Given the description of an element on the screen output the (x, y) to click on. 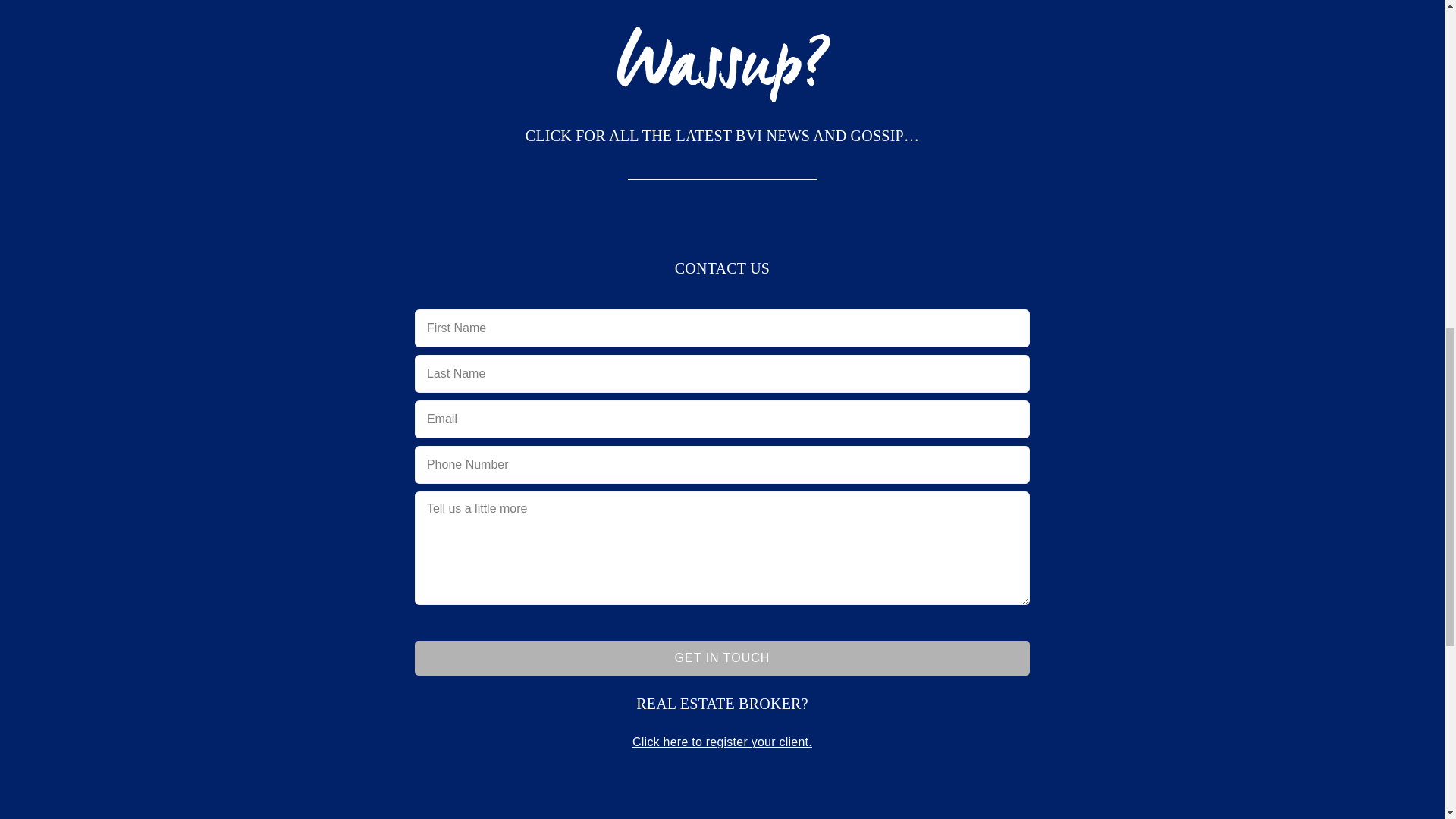
Page 1 (721, 703)
GET IN TOUCH (721, 657)
Page 1 (721, 135)
